Given the description of an element on the screen output the (x, y) to click on. 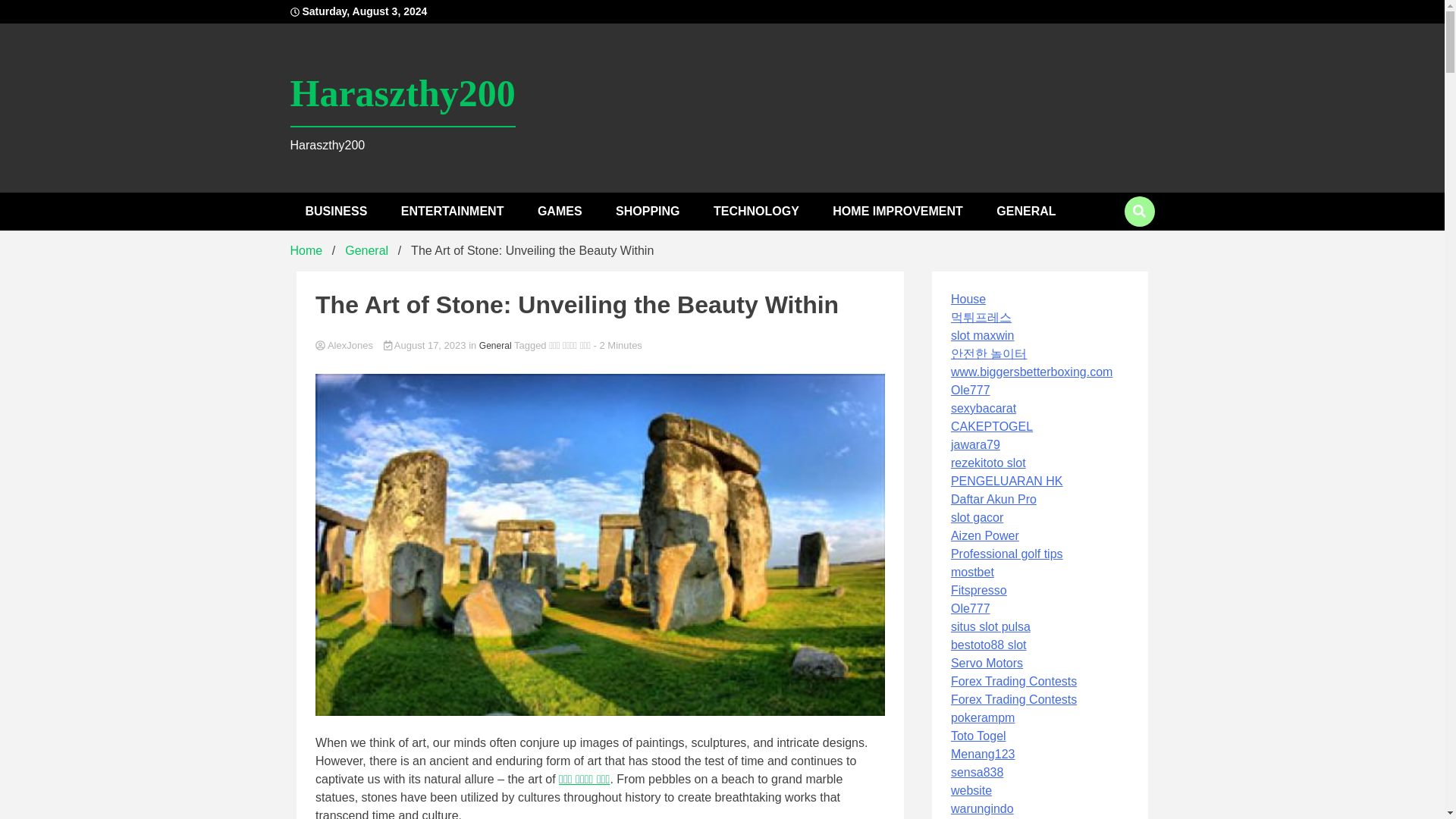
Haraszthy200 (402, 94)
Home (305, 250)
BUSINESS (335, 211)
HOME IMPROVEMENT (897, 211)
www.biggersbetterboxing.com (1031, 371)
General (366, 250)
GENERAL (1025, 211)
Estimated Reading Time of Article (618, 345)
GAMES (559, 211)
August 17, 2023 (426, 345)
